Given the description of an element on the screen output the (x, y) to click on. 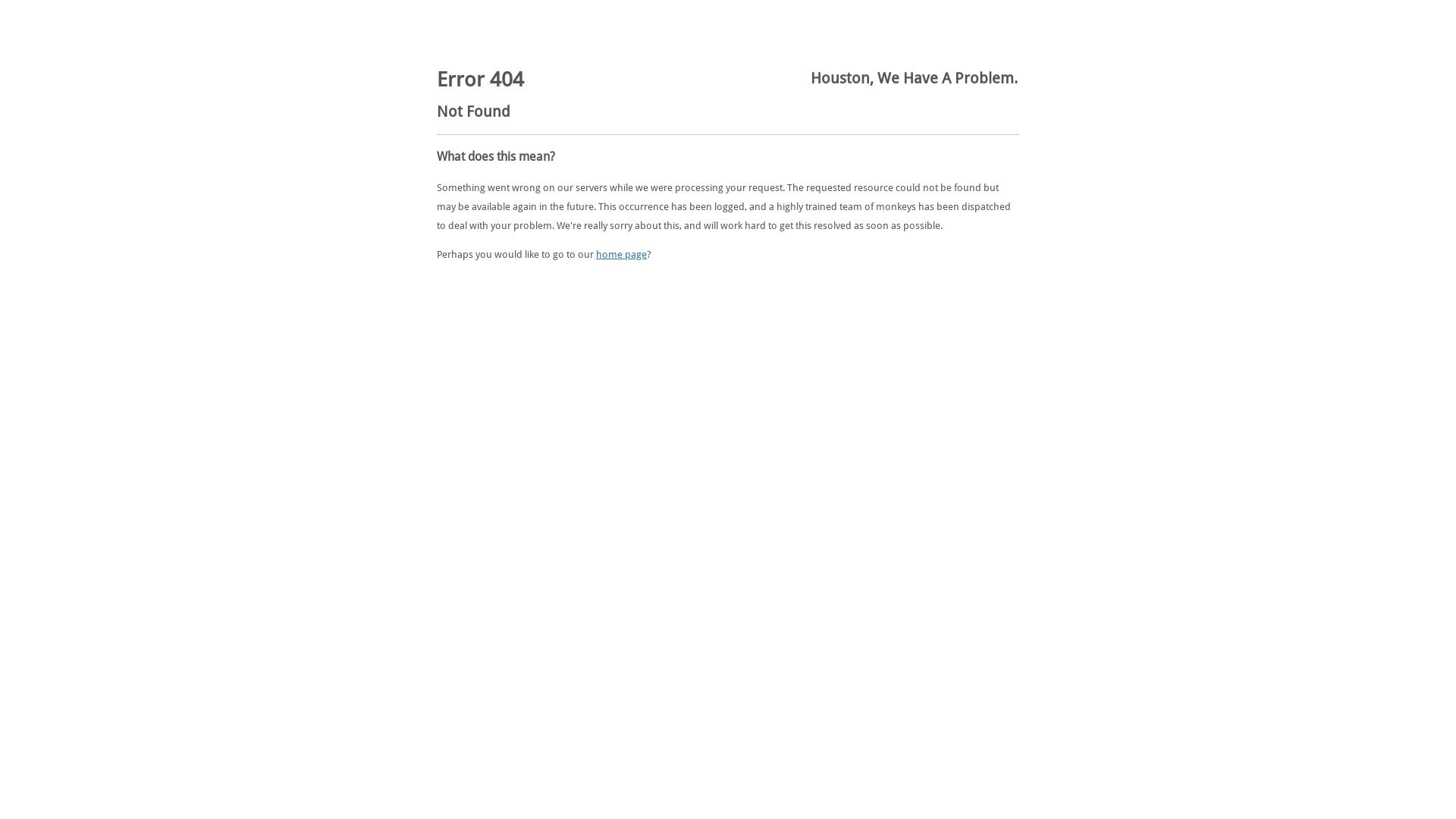
home page Element type: text (621, 254)
